Given the description of an element on the screen output the (x, y) to click on. 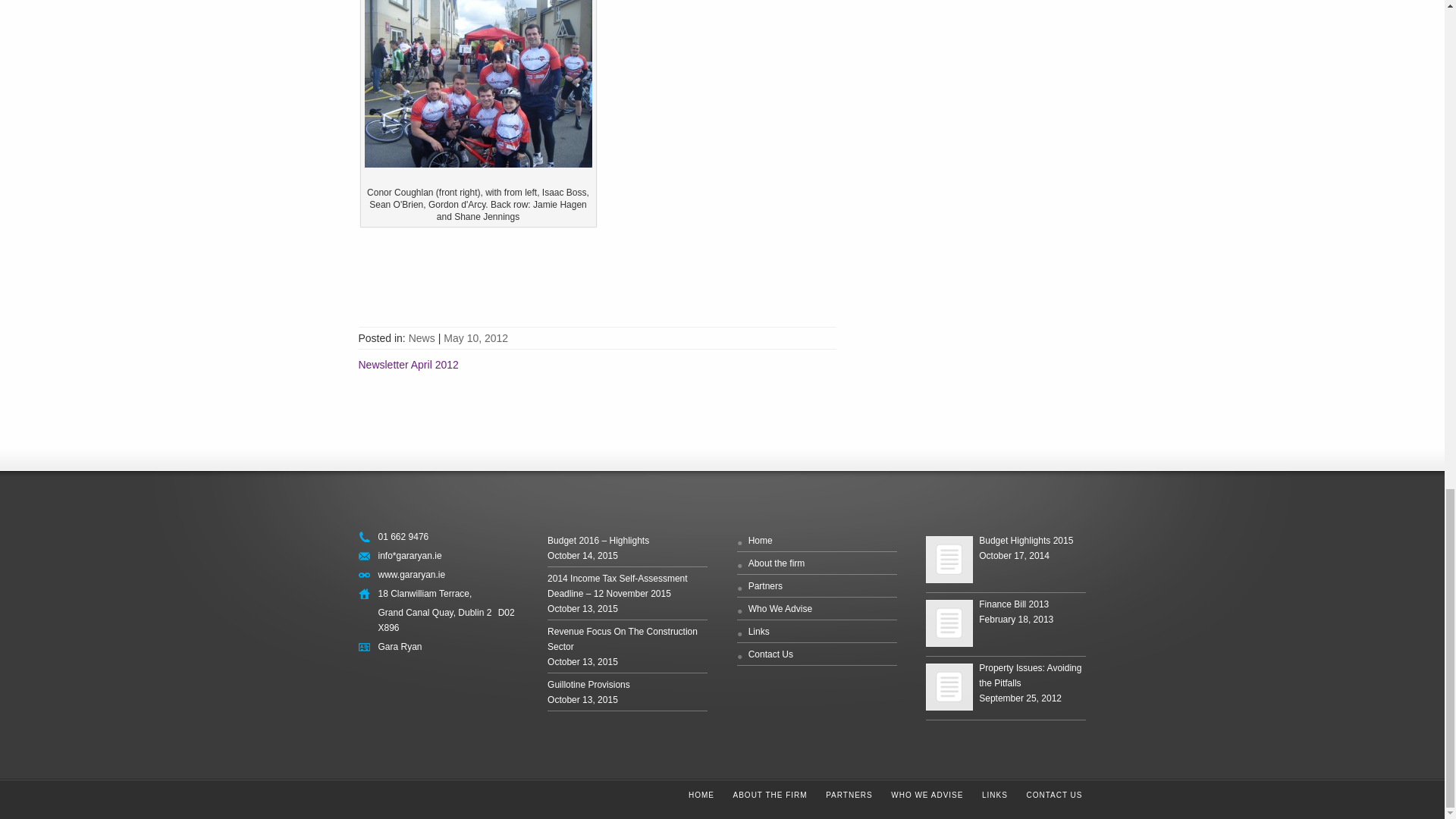
Newsletter April 2012 (408, 364)
Guillotine Provisions (588, 684)
Budget Highlights 2015 (1025, 540)
May 10, 2012 (476, 337)
News (422, 337)
Revenue Focus On The Construction Sector (622, 638)
Finance Bill 2013 (949, 623)
Budget Highlights 2015 (949, 559)
Budget Highlights 2015 (949, 559)
